Given the description of an element on the screen output the (x, y) to click on. 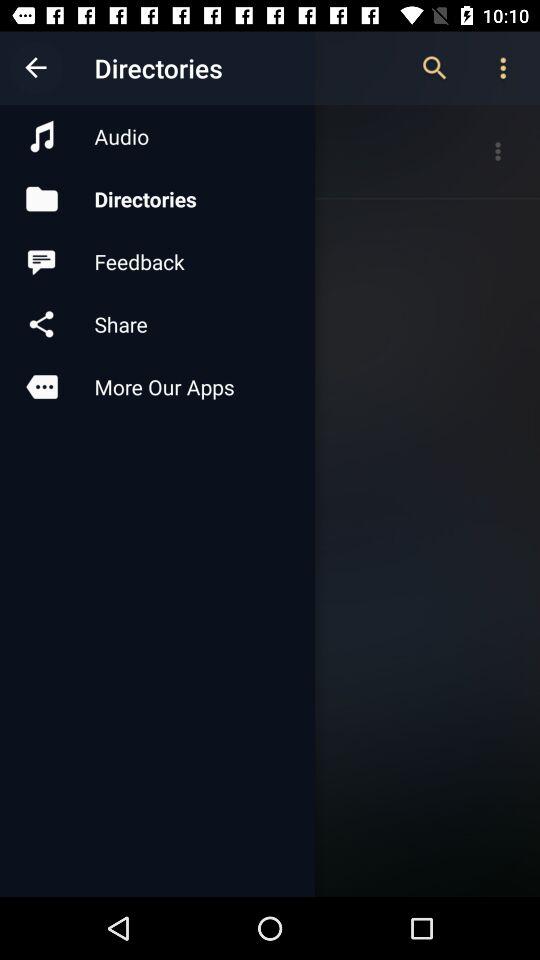
choose item above the audio icon (36, 68)
